Given the description of an element on the screen output the (x, y) to click on. 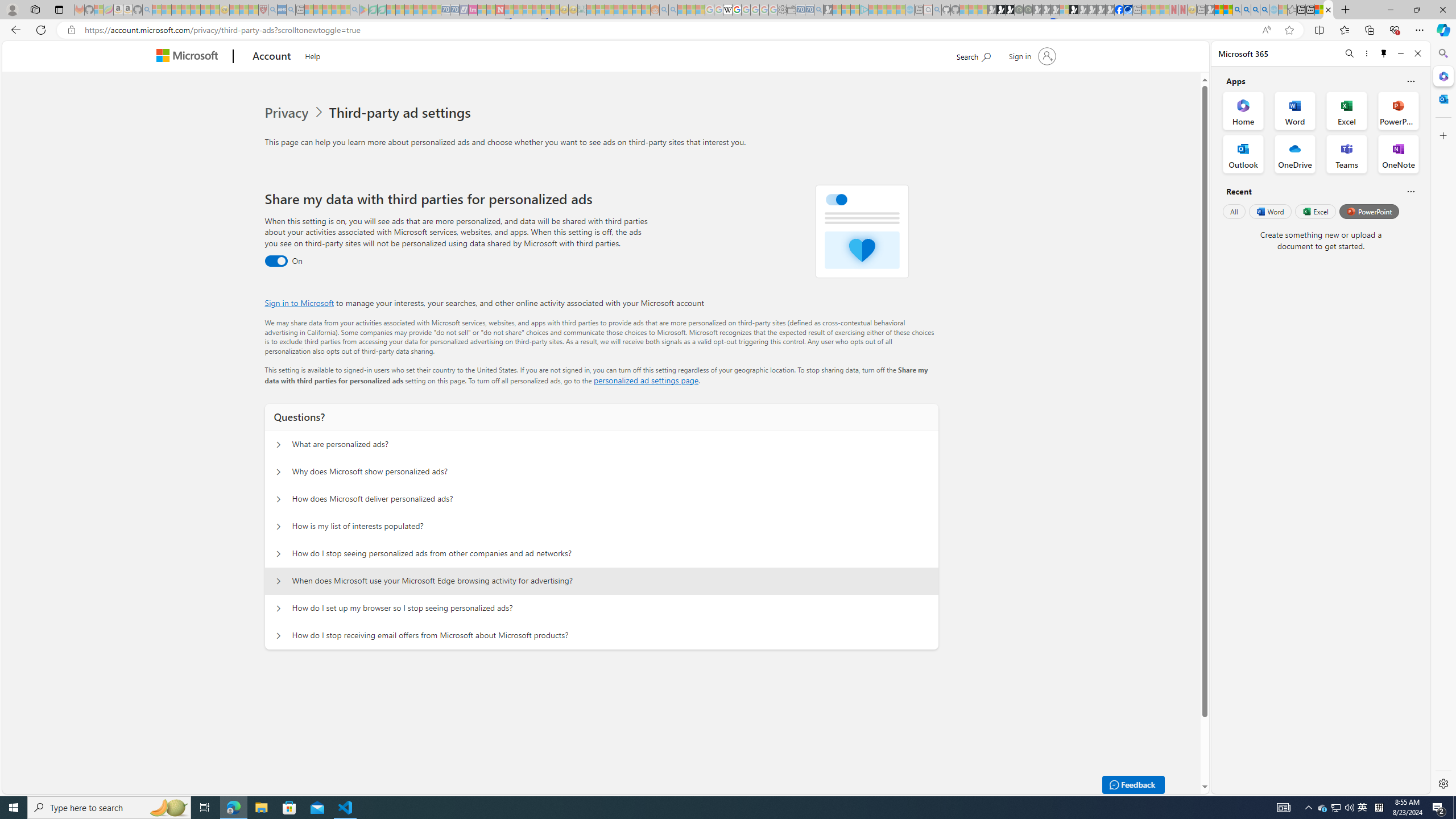
Excel Office App (1346, 110)
OneNote Office App (1398, 154)
Target page - Wikipedia (726, 9)
